Given the description of an element on the screen output the (x, y) to click on. 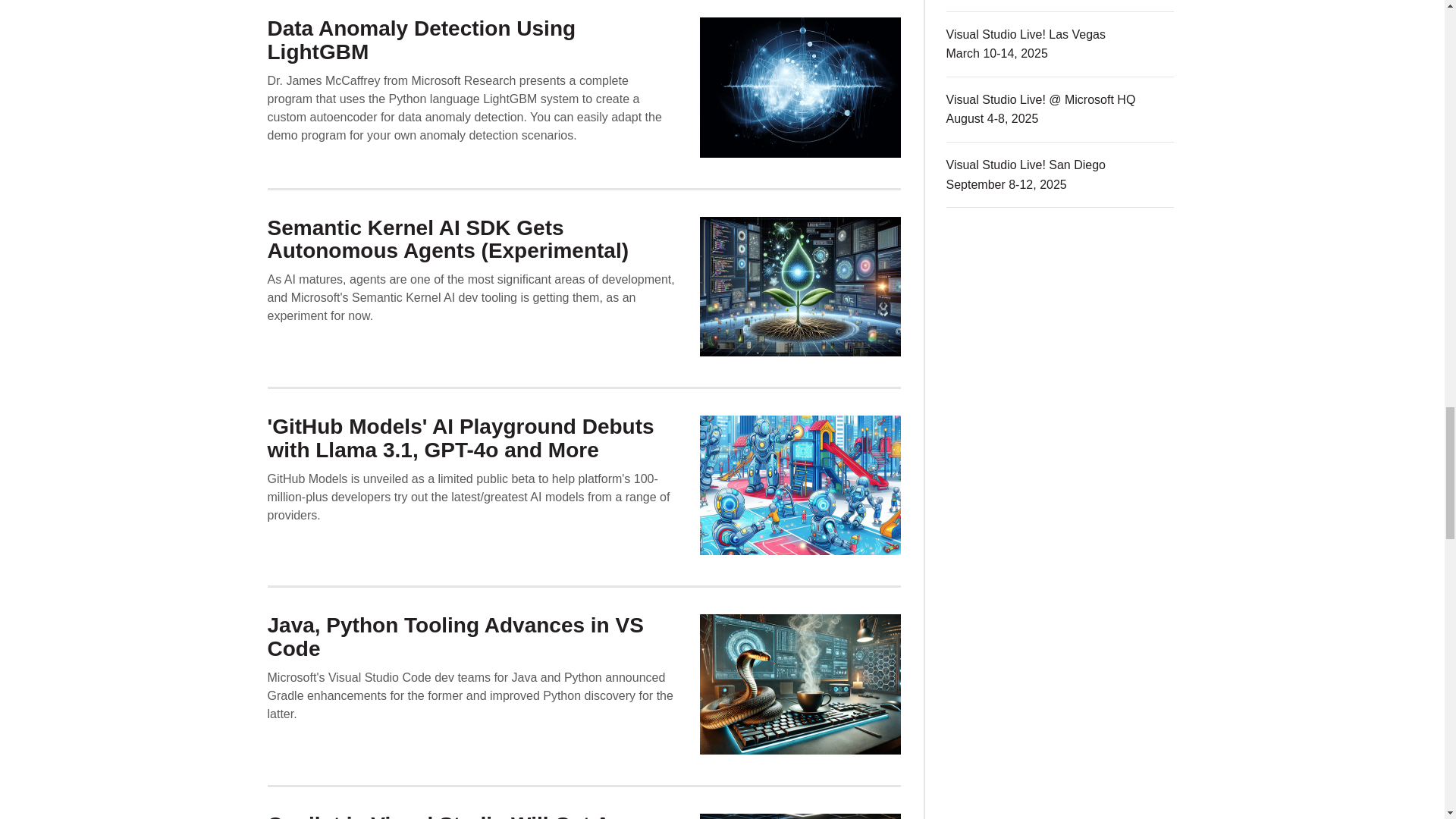
3rd party ad content (1059, 760)
3rd party ad content (1059, 339)
3rd party ad content (1059, 567)
